Given the description of an element on the screen output the (x, y) to click on. 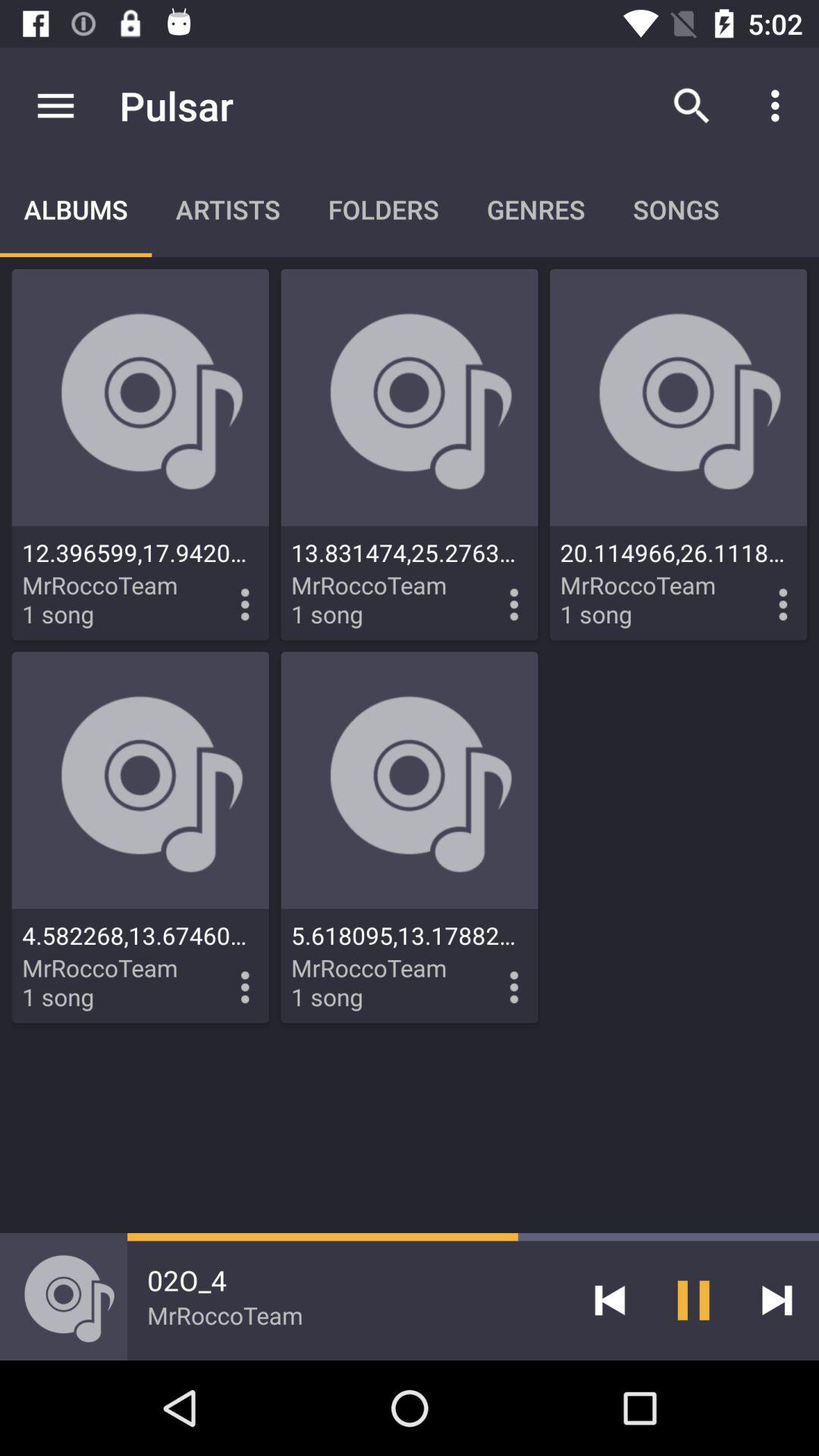
turn on item next to the 02o_4 (609, 1300)
